Given the description of an element on the screen output the (x, y) to click on. 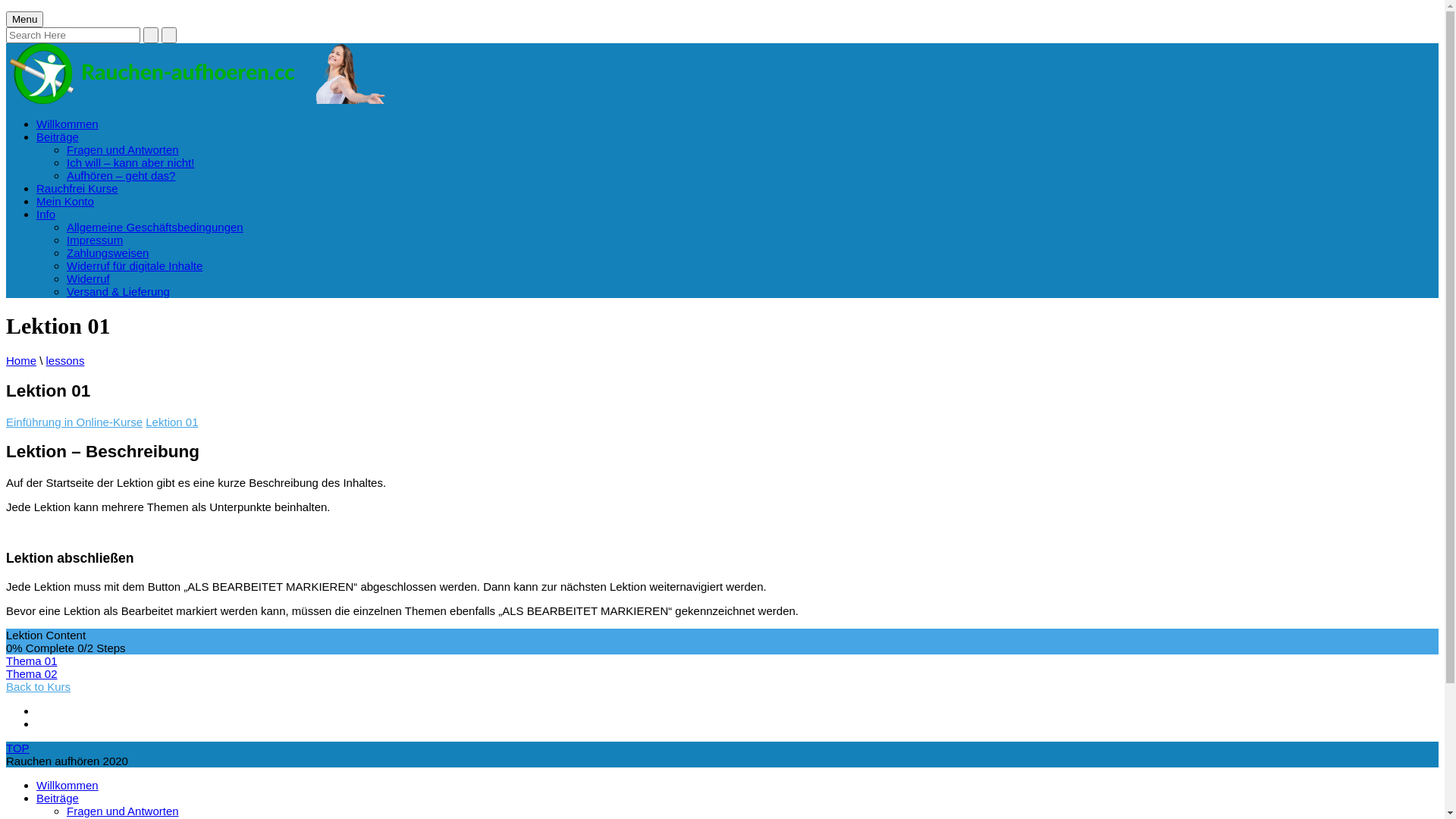
Willkommen Element type: text (67, 784)
Mein Konto Element type: text (65, 200)
Info Element type: text (45, 213)
TOP Element type: text (17, 747)
Widerruf Element type: text (87, 278)
Back to Kurs Element type: text (38, 686)
  Element type: text (168, 35)
Thema 02 Element type: text (722, 673)
Lektion 01 Element type: text (171, 421)
Fragen und Antworten Element type: text (122, 149)
Impressum Element type: text (94, 239)
Zahlungsweisen Element type: text (107, 252)
  Element type: text (150, 35)
Rauchfrei Kurse Element type: text (77, 188)
Versand & Lieferung Element type: text (117, 291)
Menu Element type: text (24, 19)
Thema 01 Element type: text (722, 660)
lessons Element type: text (65, 360)
Willkommen Element type: text (67, 123)
Fragen und Antworten Element type: text (122, 810)
Home Element type: text (21, 360)
